Given the description of an element on the screen output the (x, y) to click on. 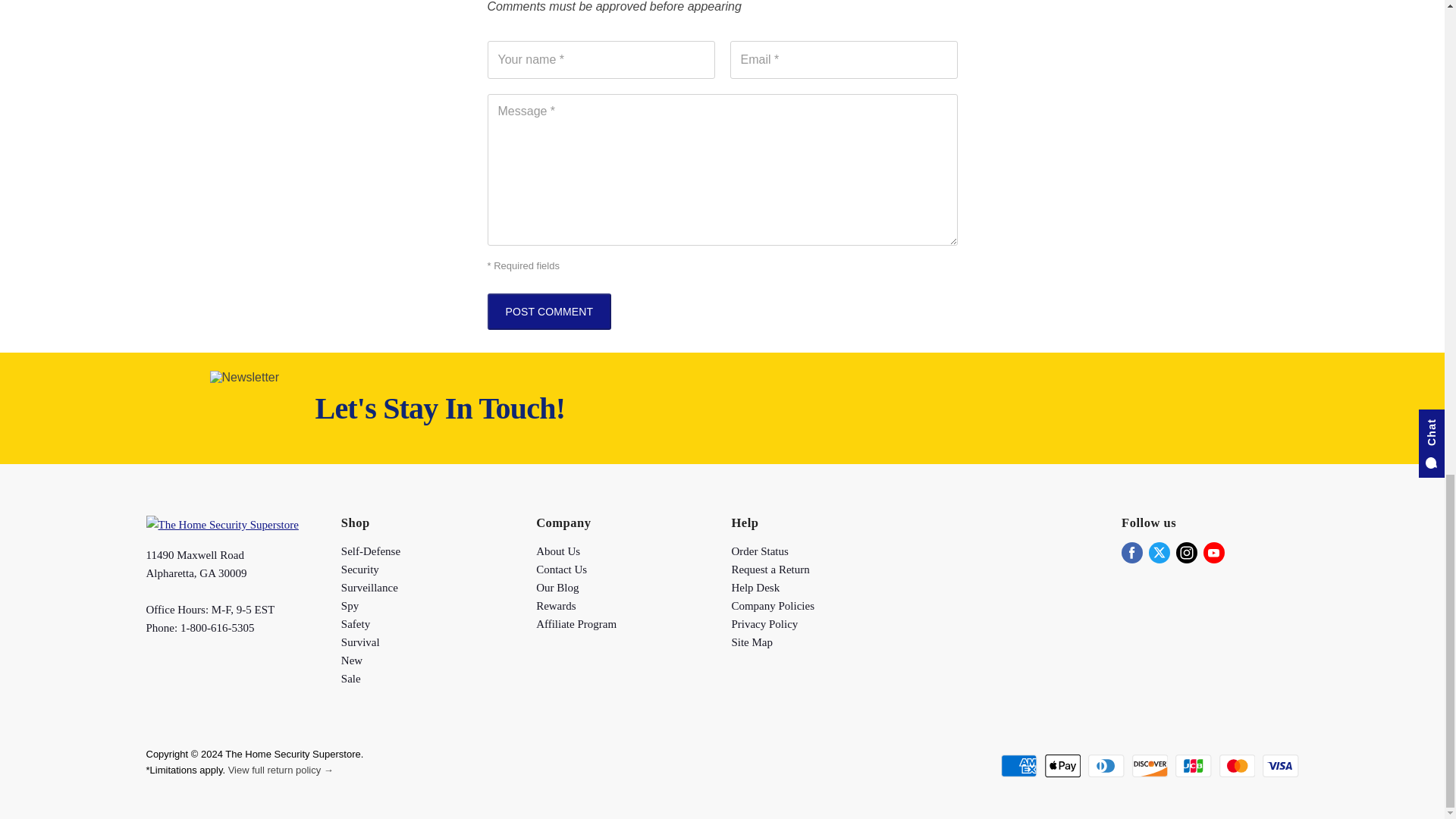
Instagram (1186, 552)
Twitter (1159, 552)
Facebook (1131, 552)
The Home Security Superstore (221, 524)
Youtube (1213, 552)
